Given the description of an element on the screen output the (x, y) to click on. 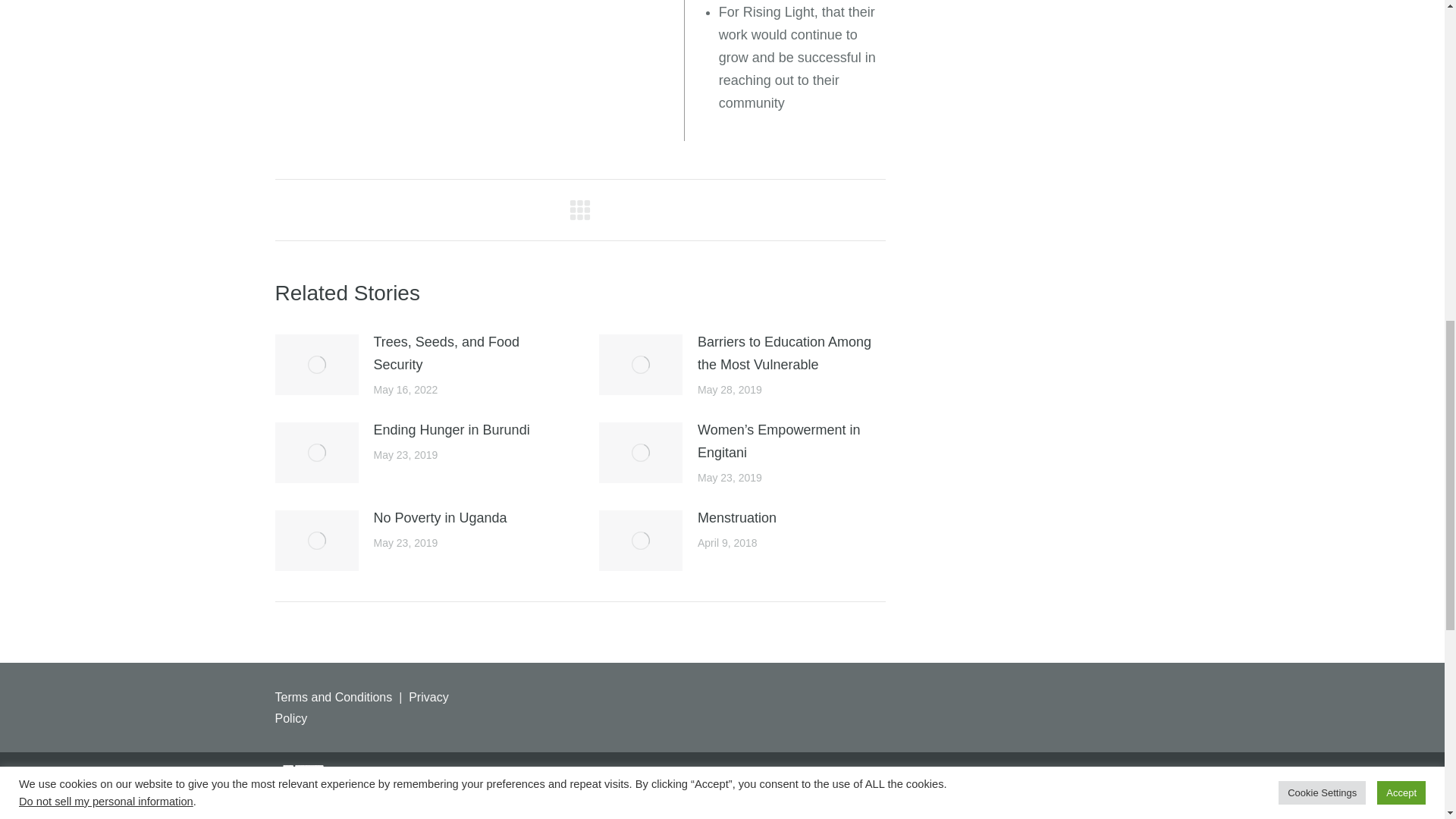
Barriers to Education Among the Most Vulnerable (791, 352)
Trees, Seeds, and Food Security (466, 352)
